Given the description of an element on the screen output the (x, y) to click on. 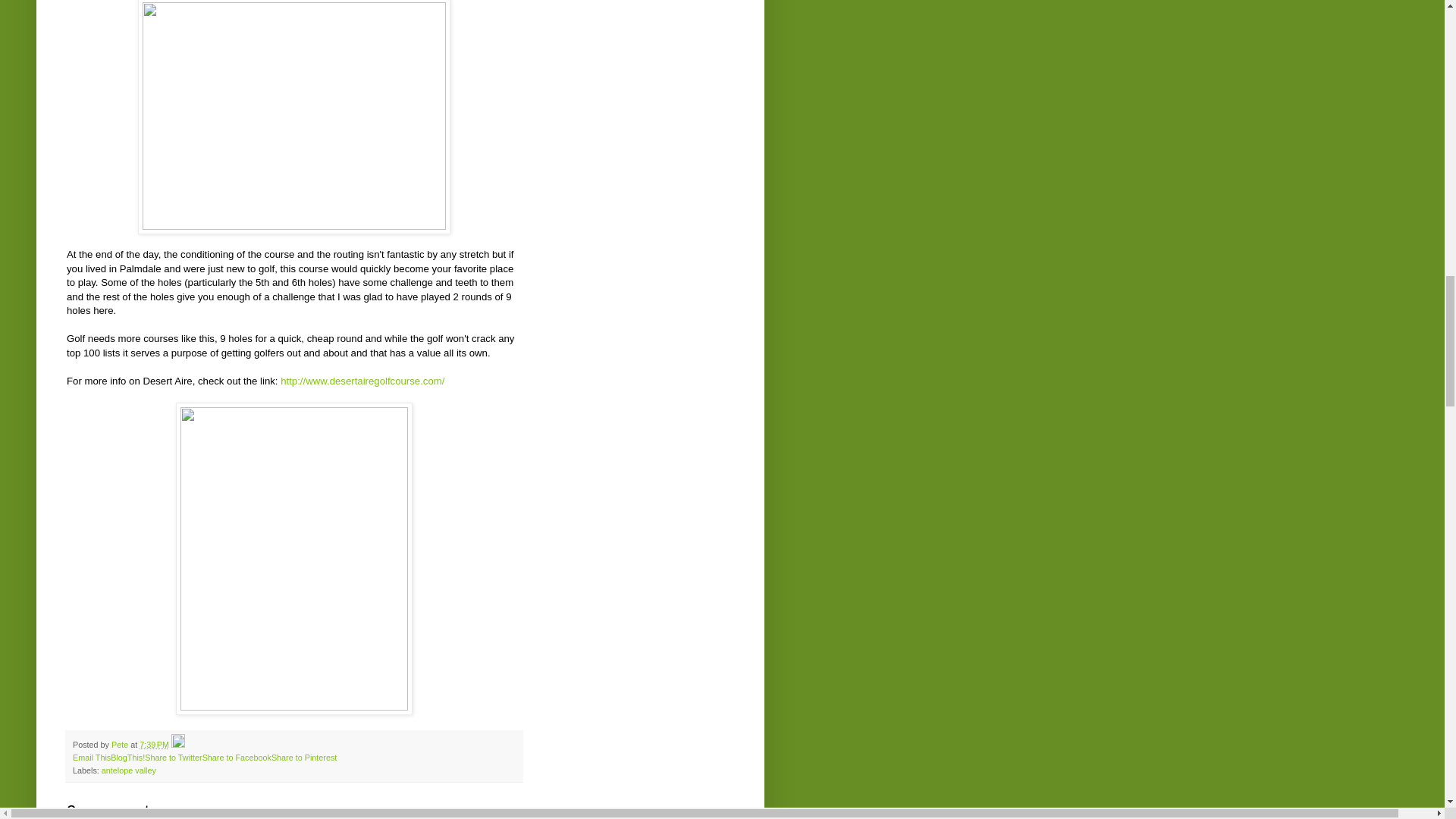
Email This (91, 757)
Pete (121, 744)
Share to Pinterest (303, 757)
author profile (121, 744)
BlogThis! (127, 757)
Share to Facebook (236, 757)
Email This (91, 757)
BlogThis! (127, 757)
Share to Facebook (236, 757)
Share to Twitter (173, 757)
antelope valley (128, 769)
Share to Pinterest (303, 757)
Edit Post (177, 744)
Share to Twitter (173, 757)
